Given the description of an element on the screen output the (x, y) to click on. 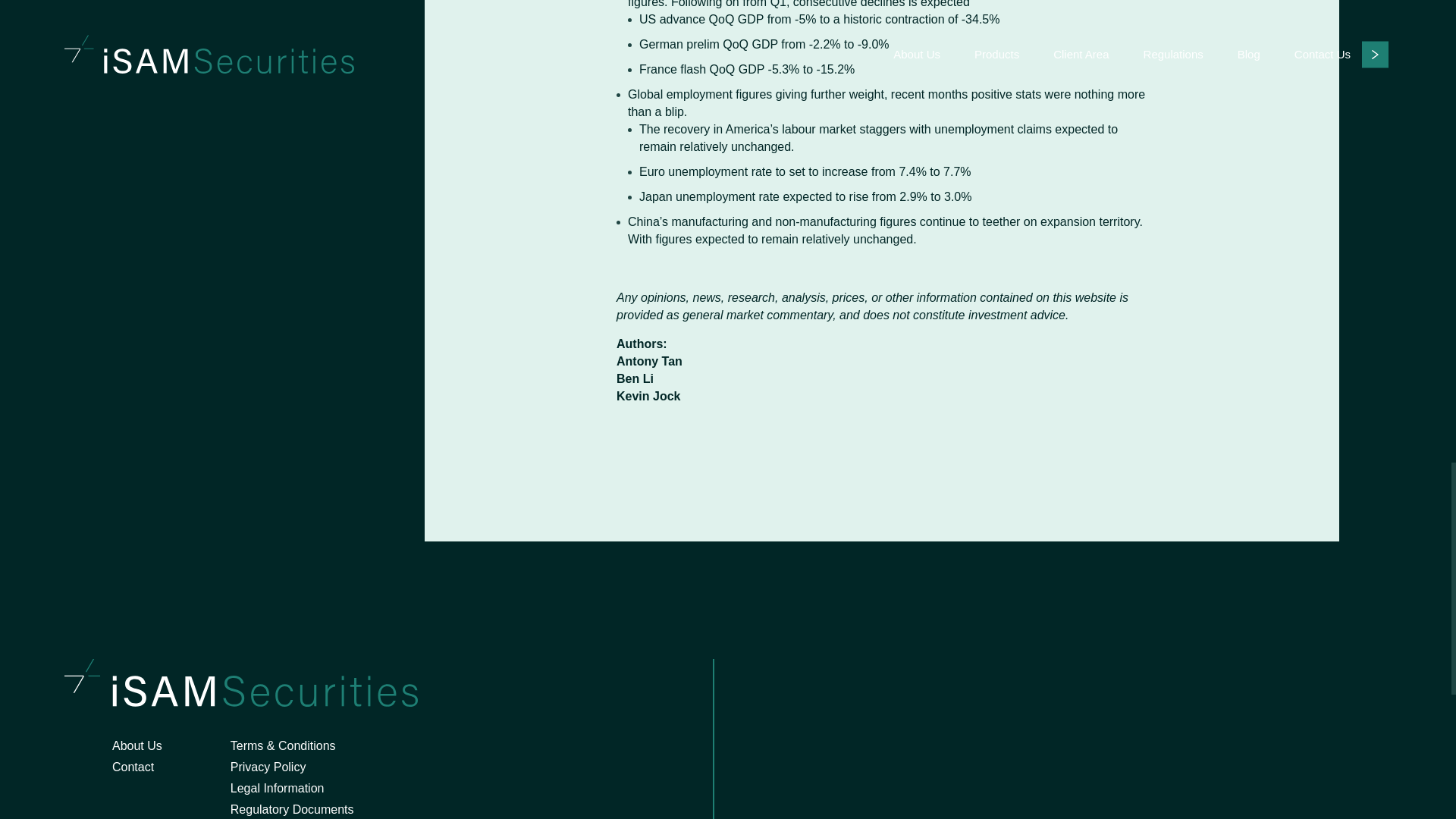
Regulatory Documents (291, 809)
About Us (136, 745)
Privacy Policy (267, 766)
Legal Information (277, 788)
Contact (133, 766)
